Given the description of an element on the screen output the (x, y) to click on. 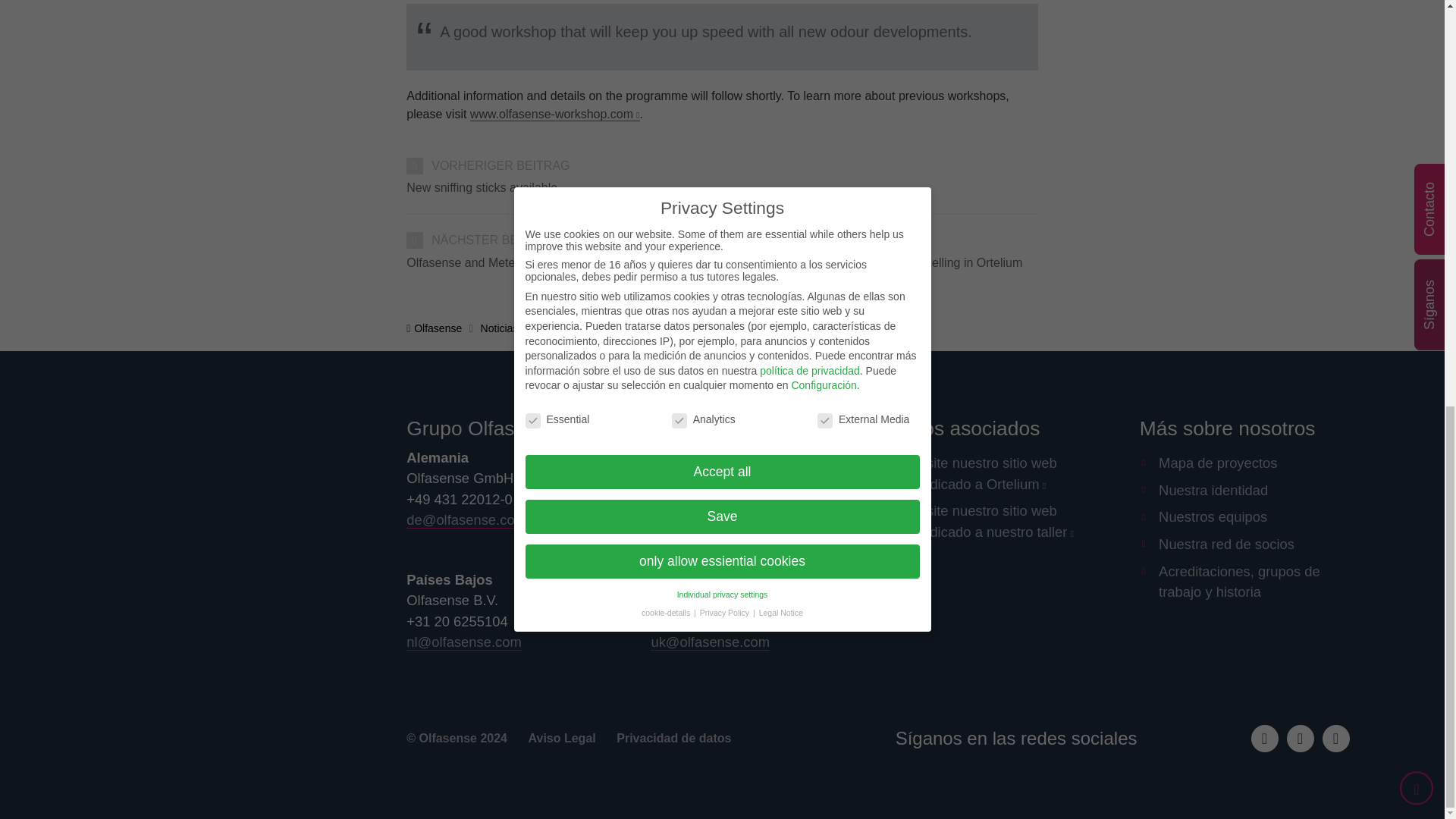
New sniffing sticks available (722, 188)
Go to Olfasense. (433, 328)
